Given the description of an element on the screen output the (x, y) to click on. 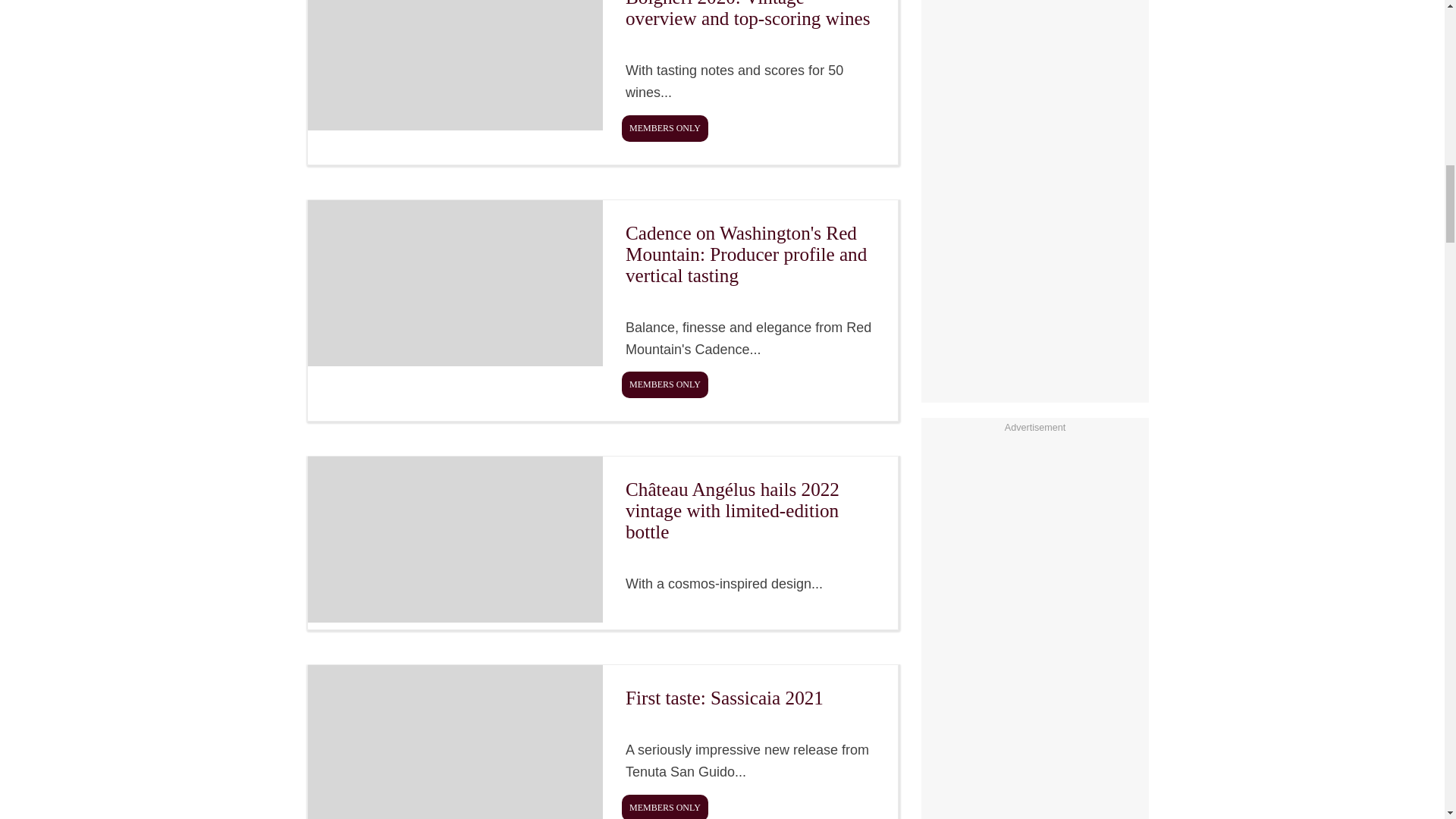
Bolgheri 2020: Vintage overview and top-scoring wines (602, 82)
First taste: Sassicaia 2021 (602, 741)
